Given the description of an element on the screen output the (x, y) to click on. 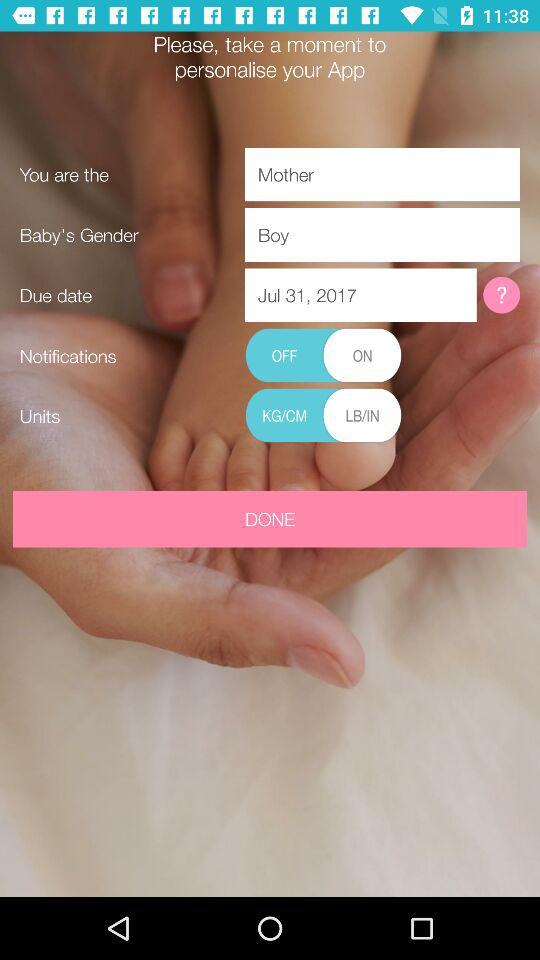
toggle unit measurement (323, 415)
